Given the description of an element on the screen output the (x, y) to click on. 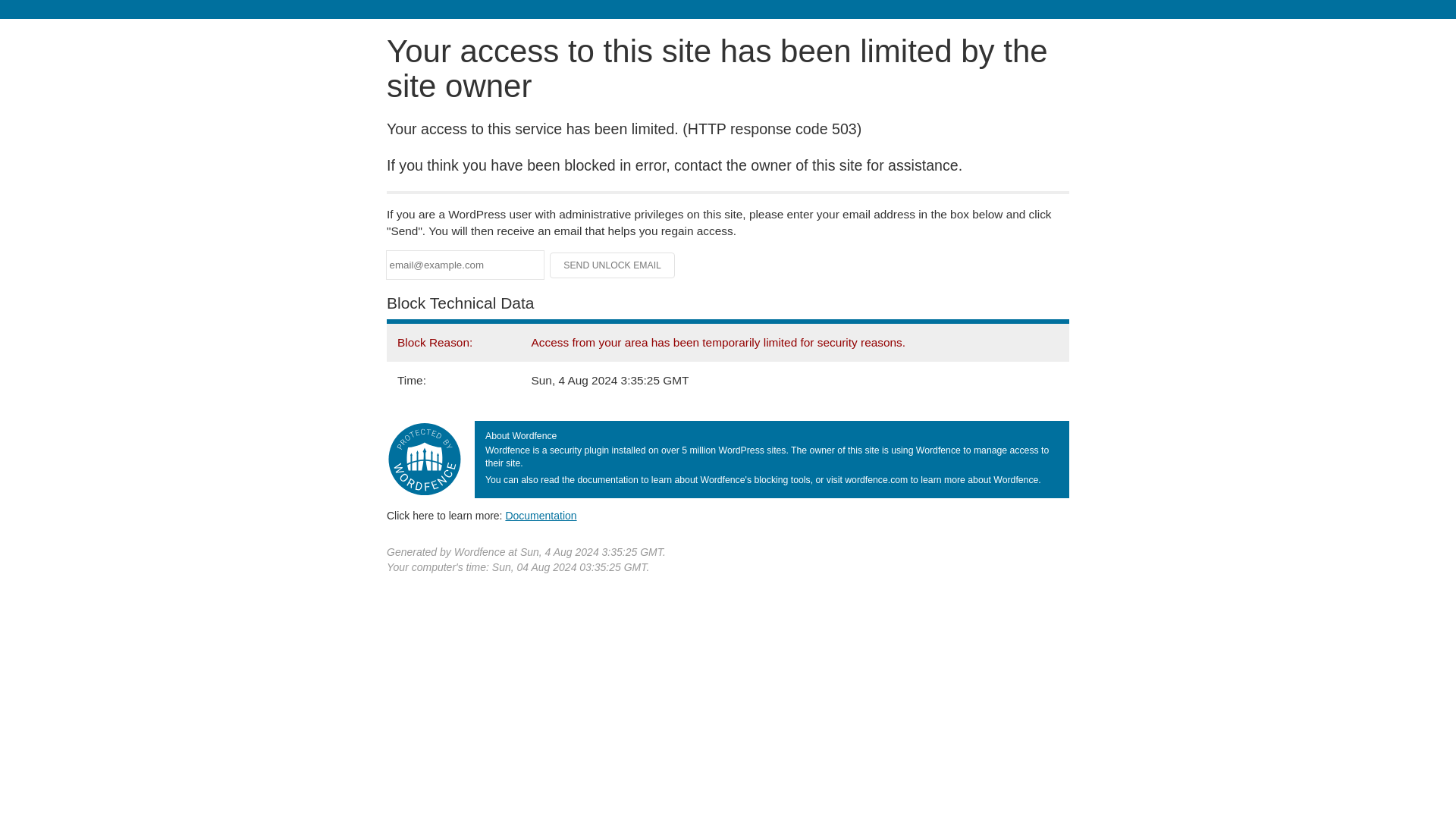
Send Unlock Email (612, 265)
Send Unlock Email (612, 265)
Documentation (540, 515)
